Given the description of an element on the screen output the (x, y) to click on. 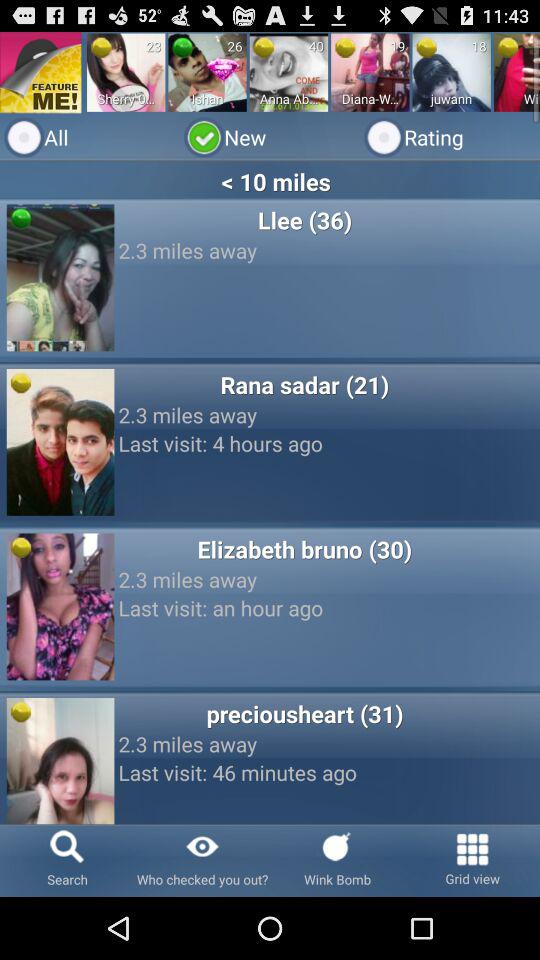
press the item to the right of who checked you icon (337, 860)
